Given the description of an element on the screen output the (x, y) to click on. 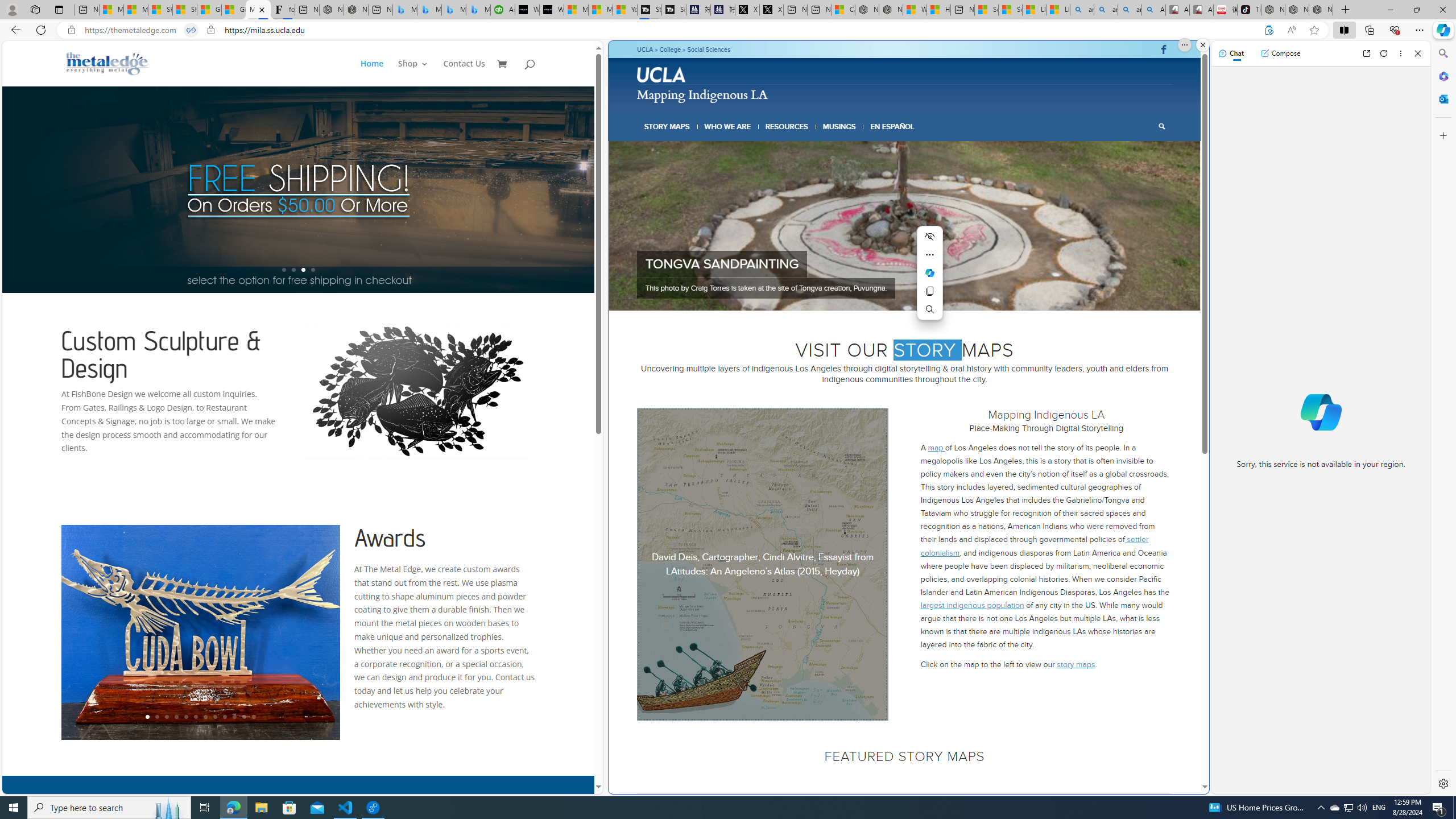
story maps (1075, 664)
Home (371, 72)
5 (908, 296)
Nordace - Siena Pro 15 Essential Set (1321, 9)
Alvitre map latitudes1 (763, 563)
All Cubot phones (1201, 9)
X (770, 9)
Microsoft Start Sports (575, 9)
Shanghai, China weather forecast | Microsoft Weather (184, 9)
2 (881, 296)
amazon - Search Images (1129, 9)
